Given the description of an element on the screen output the (x, y) to click on. 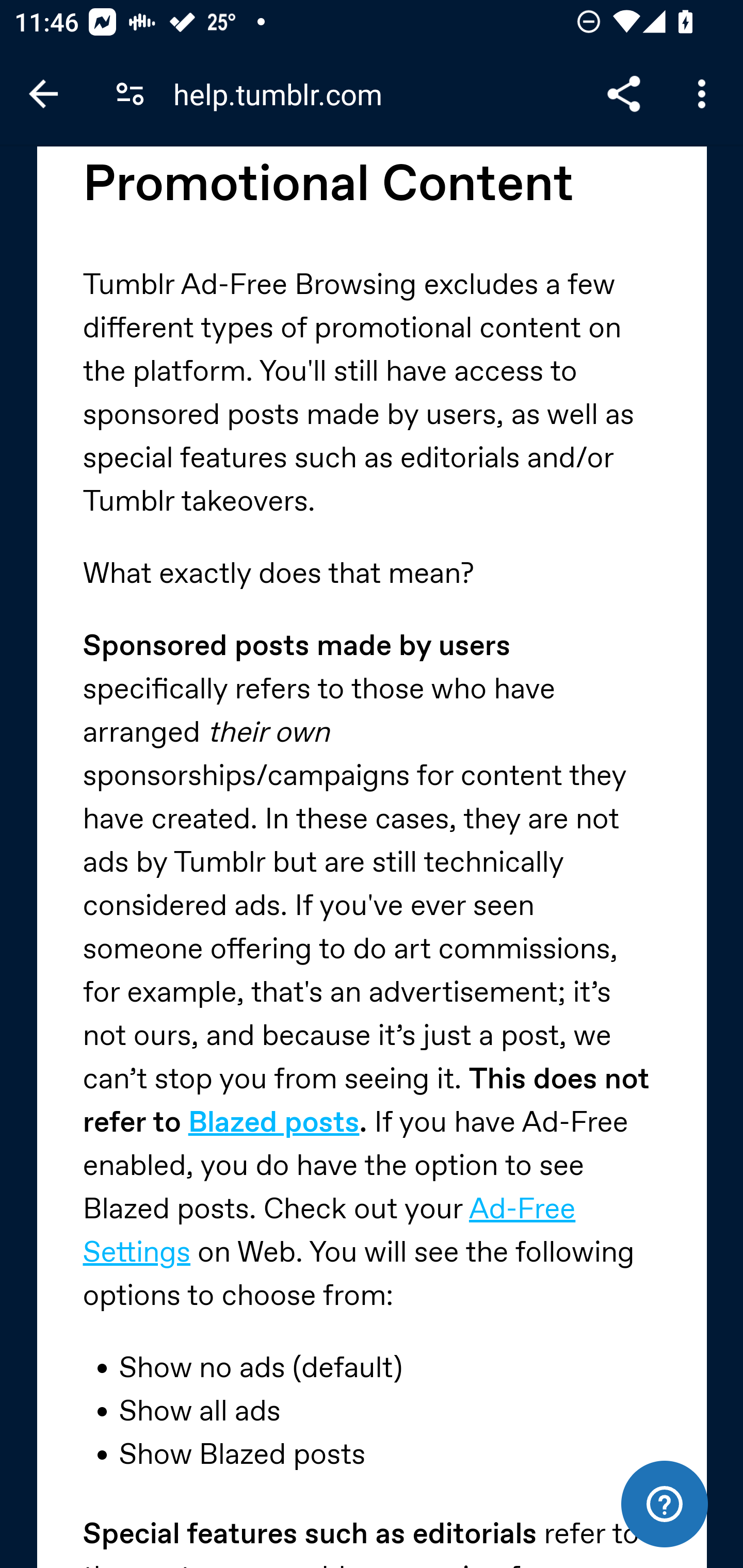
Close tab (43, 93)
Share (623, 93)
Customize and control Google Chrome (705, 93)
Connection is secure (129, 93)
help.tumblr.com (284, 93)
Blazed posts (274, 1123)
Ad-Free Settings (327, 1231)
